Given the description of an element on the screen output the (x, y) to click on. 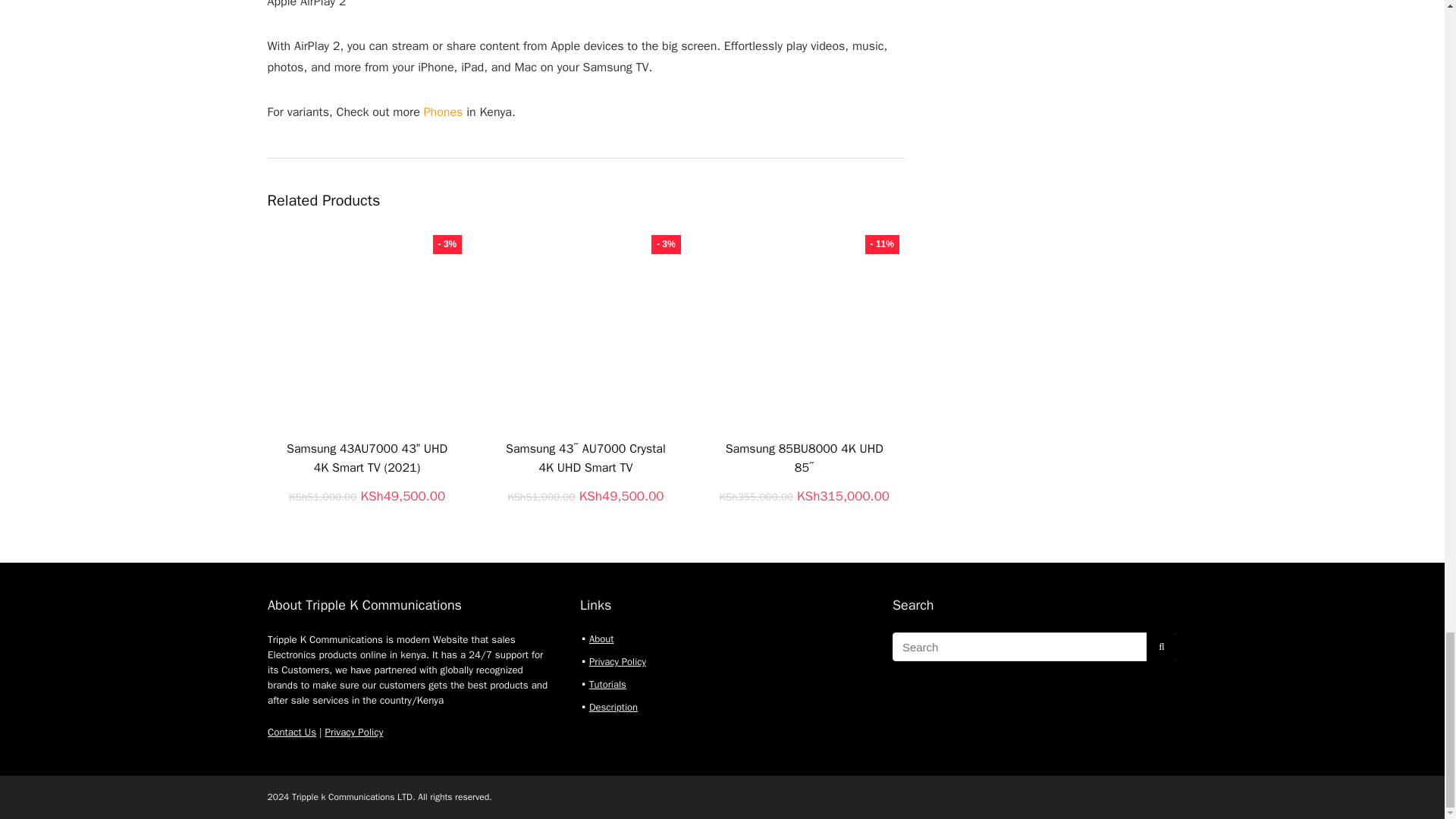
Privacy Policy (353, 731)
Phones (445, 111)
Contact Us (291, 731)
About (600, 638)
